Given the description of an element on the screen output the (x, y) to click on. 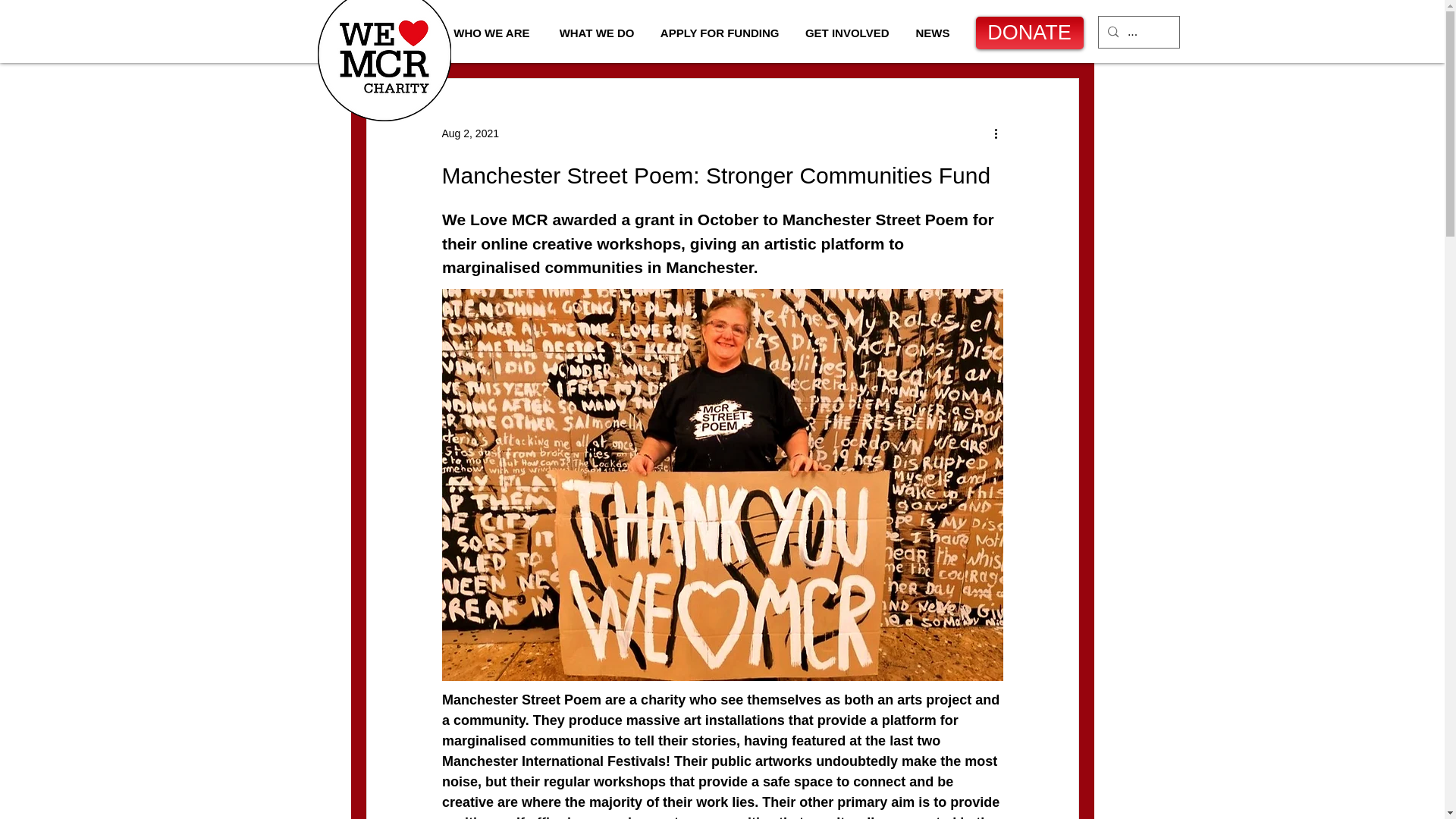
DONATE (1029, 32)
APPLY FOR FUNDING (718, 32)
Aug 2, 2021 (470, 133)
NEWS (930, 32)
GET INVOLVED (844, 32)
WHAT WE DO (593, 32)
WHO WE ARE (489, 32)
